Given the description of an element on the screen output the (x, y) to click on. 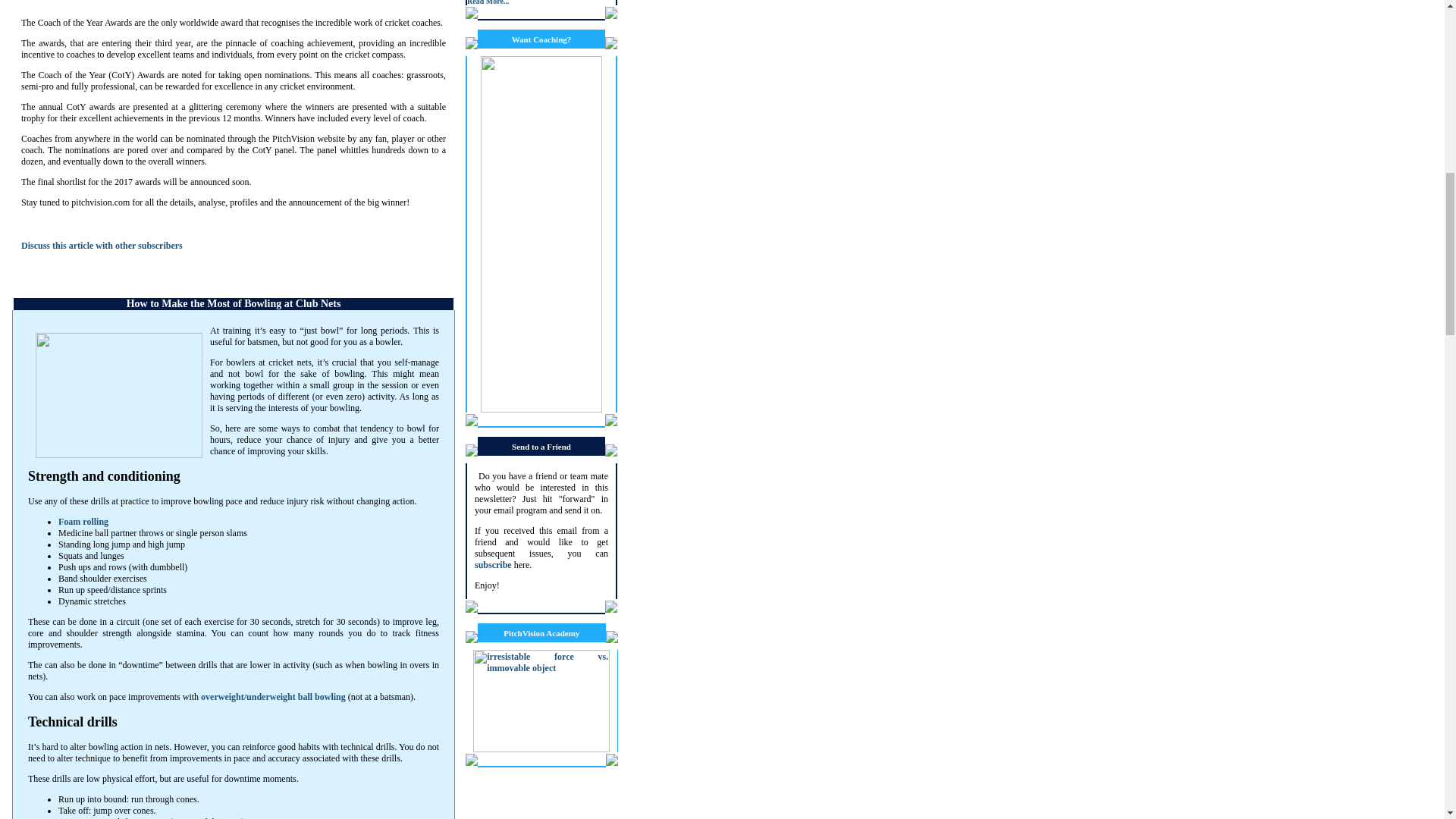
Discuss this article with other subscribers (102, 245)
subscribe (493, 564)
Foam rolling (82, 521)
Tent peg 1 (78, 817)
Read More... (487, 2)
